Given the description of an element on the screen output the (x, y) to click on. 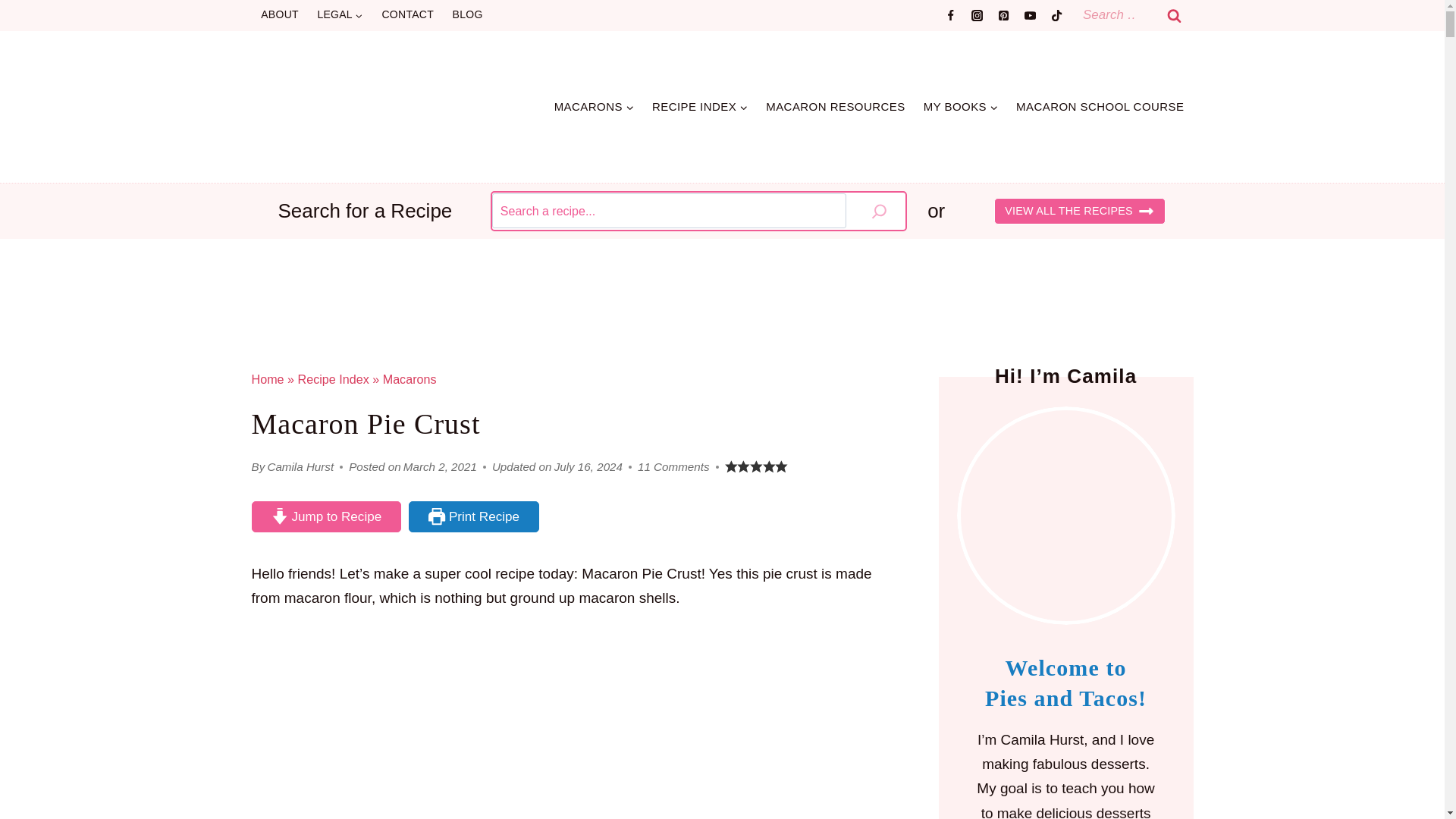
Search (1174, 14)
RECIPE INDEX (700, 106)
BLOG (467, 15)
CONTACT (407, 15)
Search (1174, 14)
MACARONS (593, 106)
ABOUT (279, 15)
Search (1174, 14)
LEGAL (339, 15)
11 Comments (673, 466)
